Given the description of an element on the screen output the (x, y) to click on. 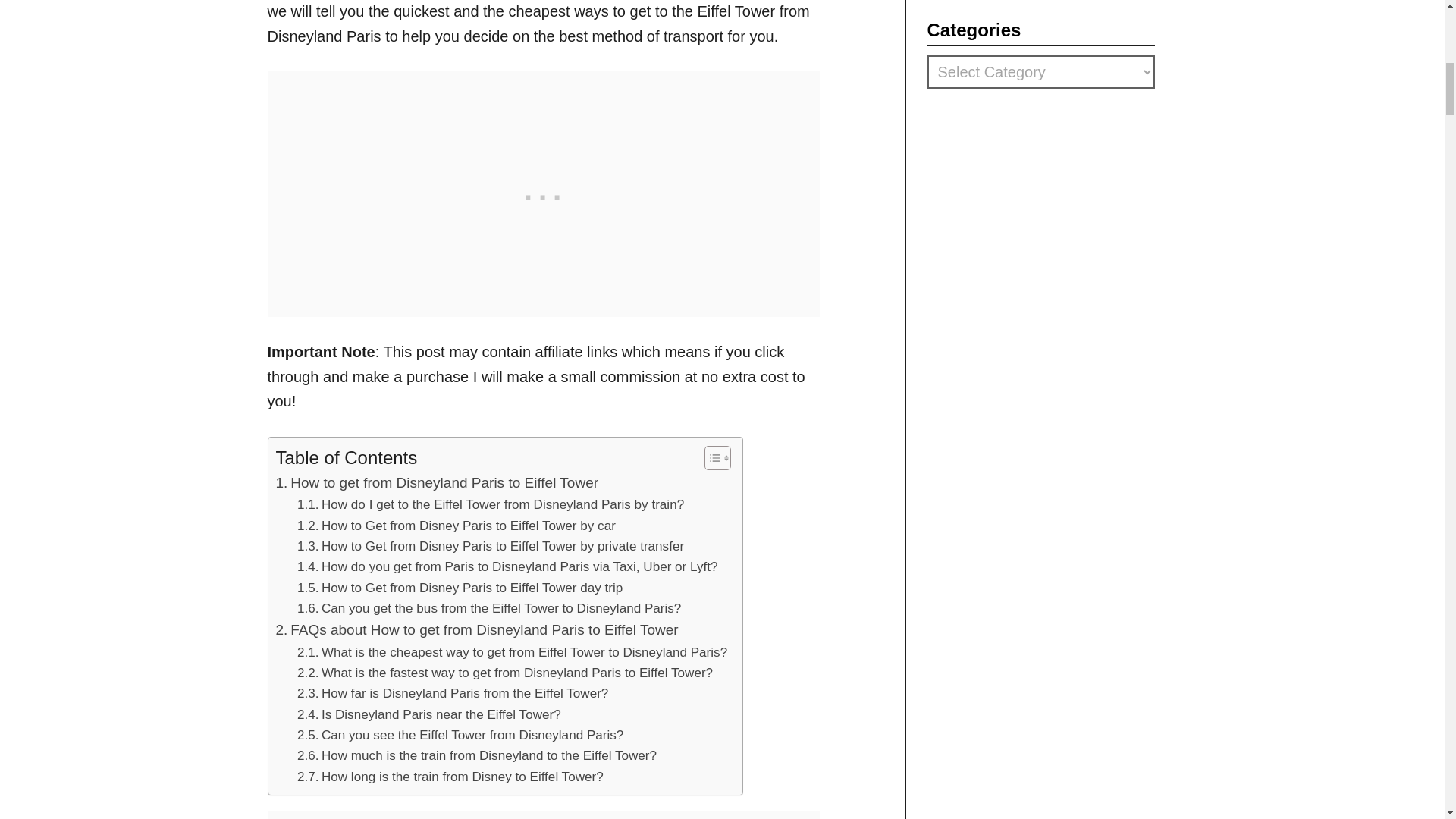
How to Get from Disney Paris to Eiffel Tower by car (456, 525)
Can you see the Eiffel Tower from Disneyland Paris? (460, 734)
FAQs about How to get from Disneyland Paris to Eiffel Tower (477, 630)
Is Disneyland Paris near the Eiffel Tower? (428, 714)
